Given the description of an element on the screen output the (x, y) to click on. 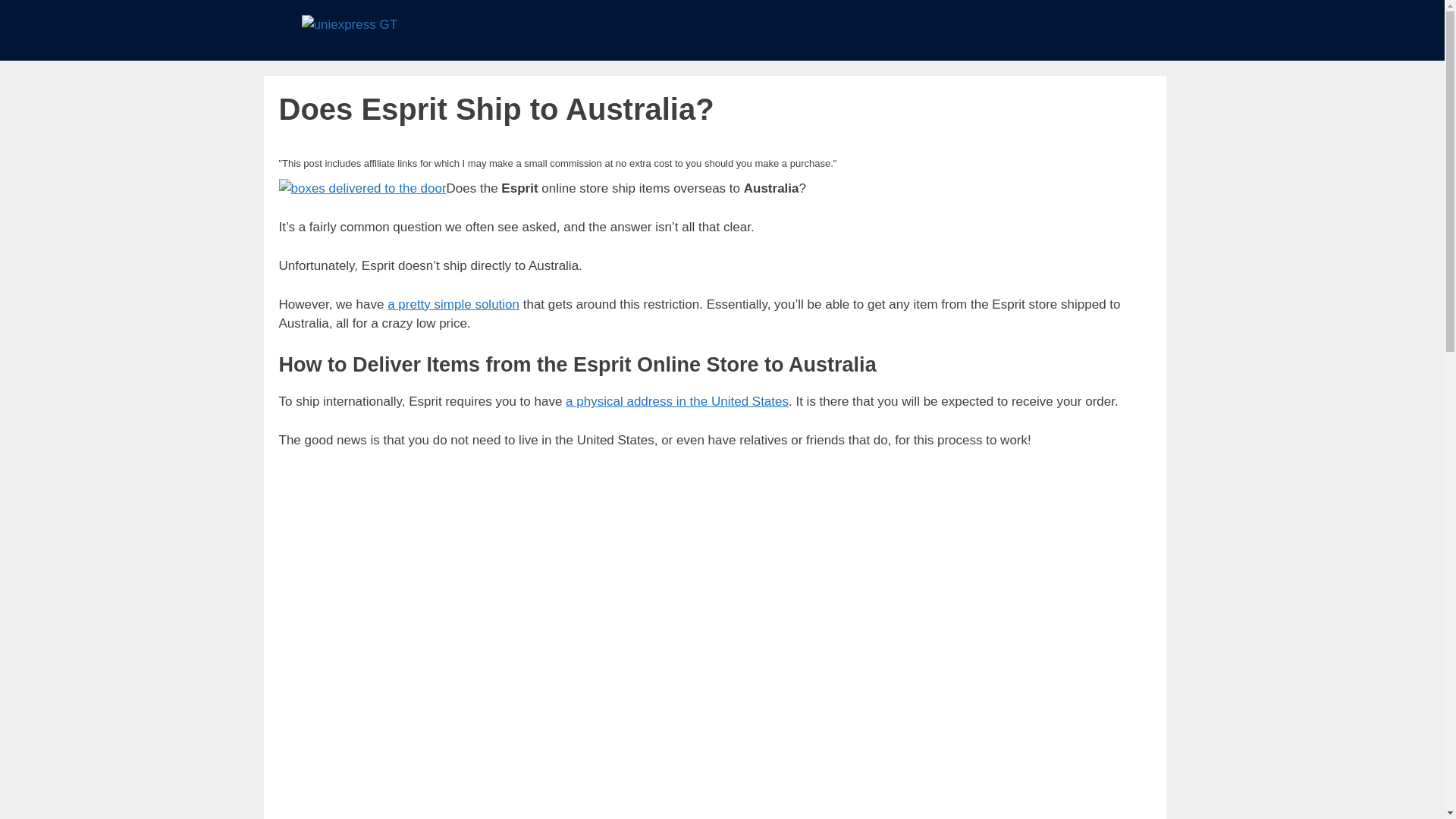
uniexpress GT (349, 25)
uniexpress GT (349, 24)
a pretty simple solution (453, 304)
a physical address in the United States (677, 400)
